Given the description of an element on the screen output the (x, y) to click on. 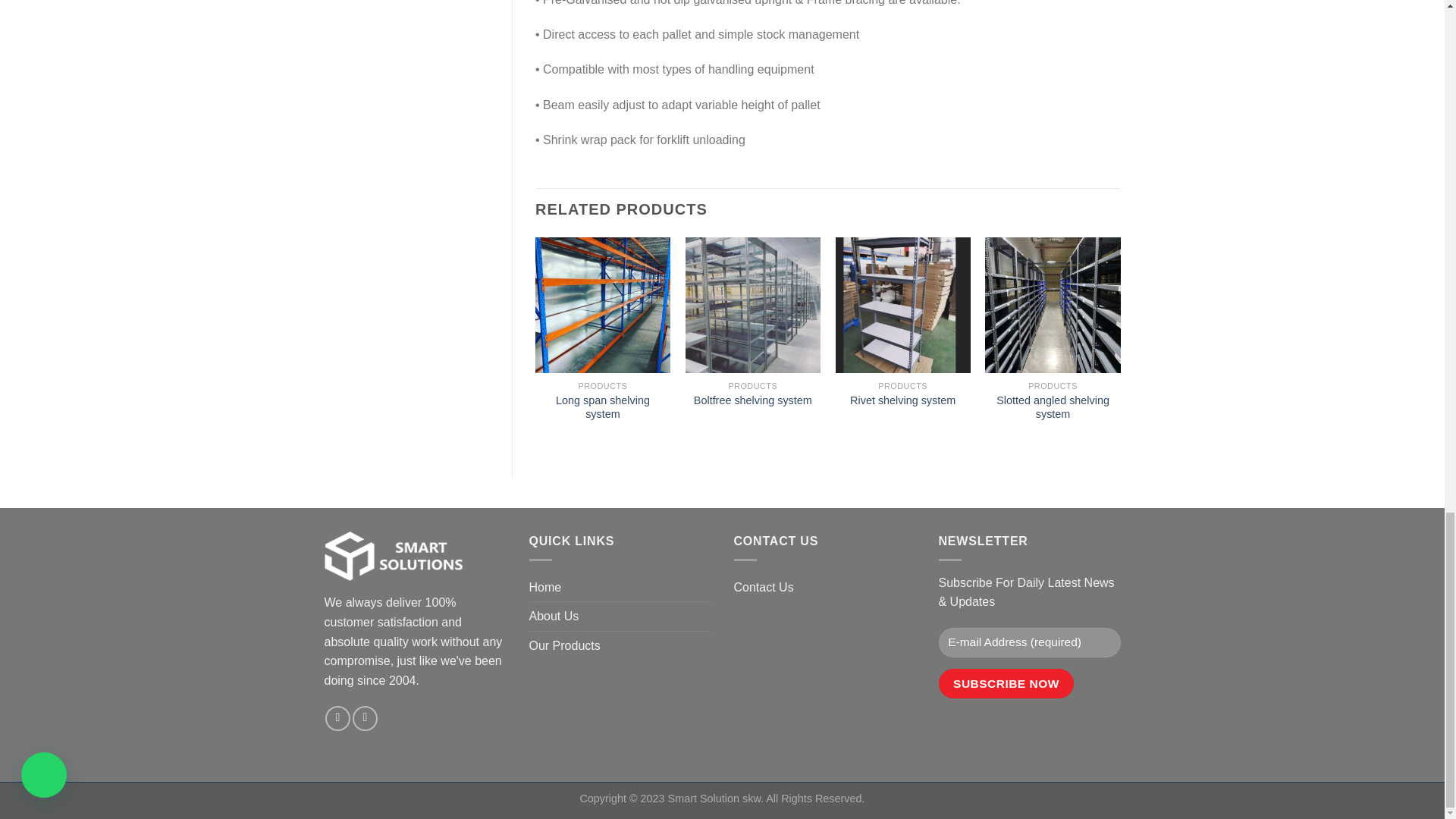
Subscribe Now (1006, 683)
Follow on Instagram (337, 718)
Follow on LinkedIn (364, 718)
